Given the description of an element on the screen output the (x, y) to click on. 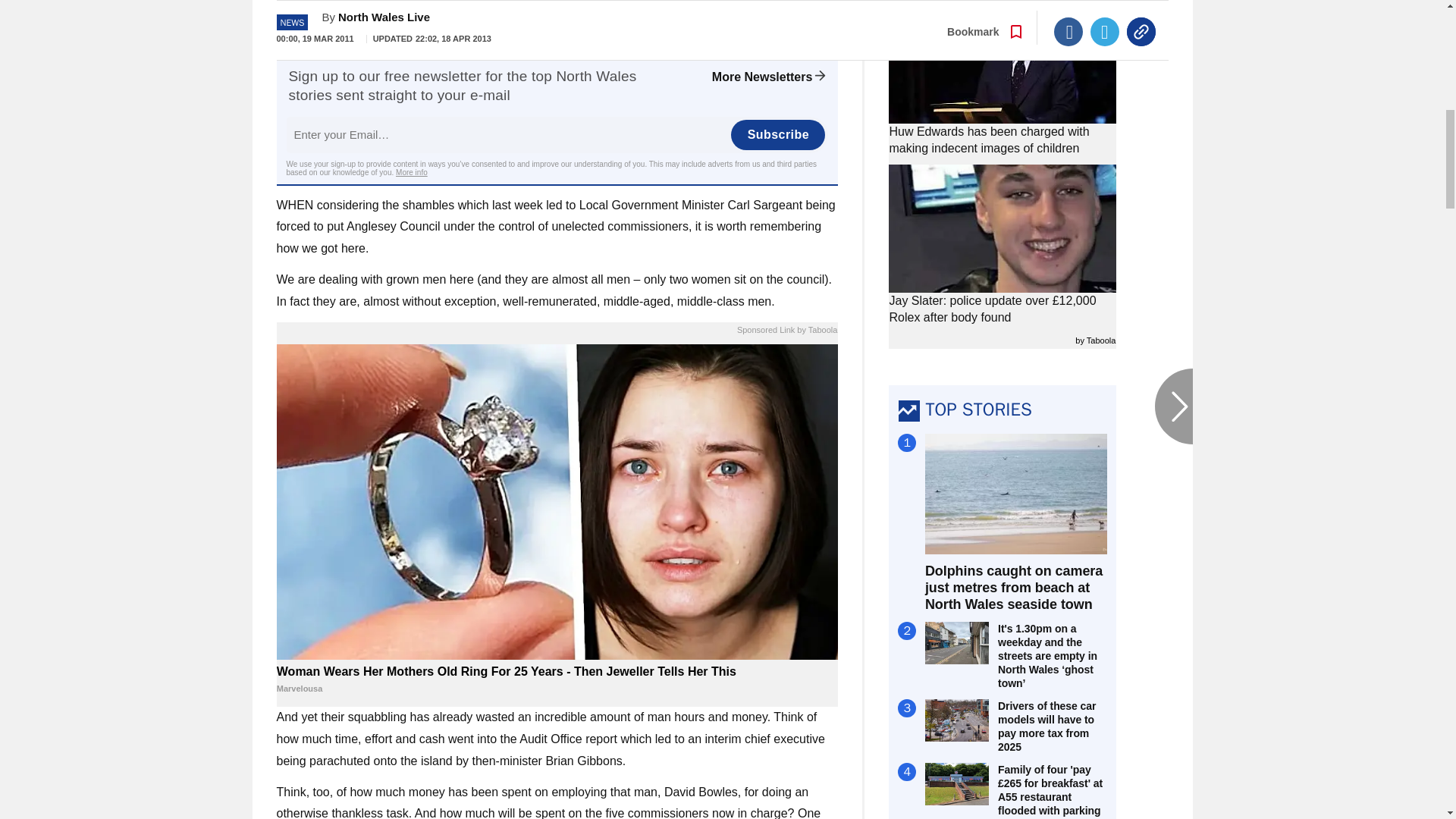
Go (730, 22)
